Given the description of an element on the screen output the (x, y) to click on. 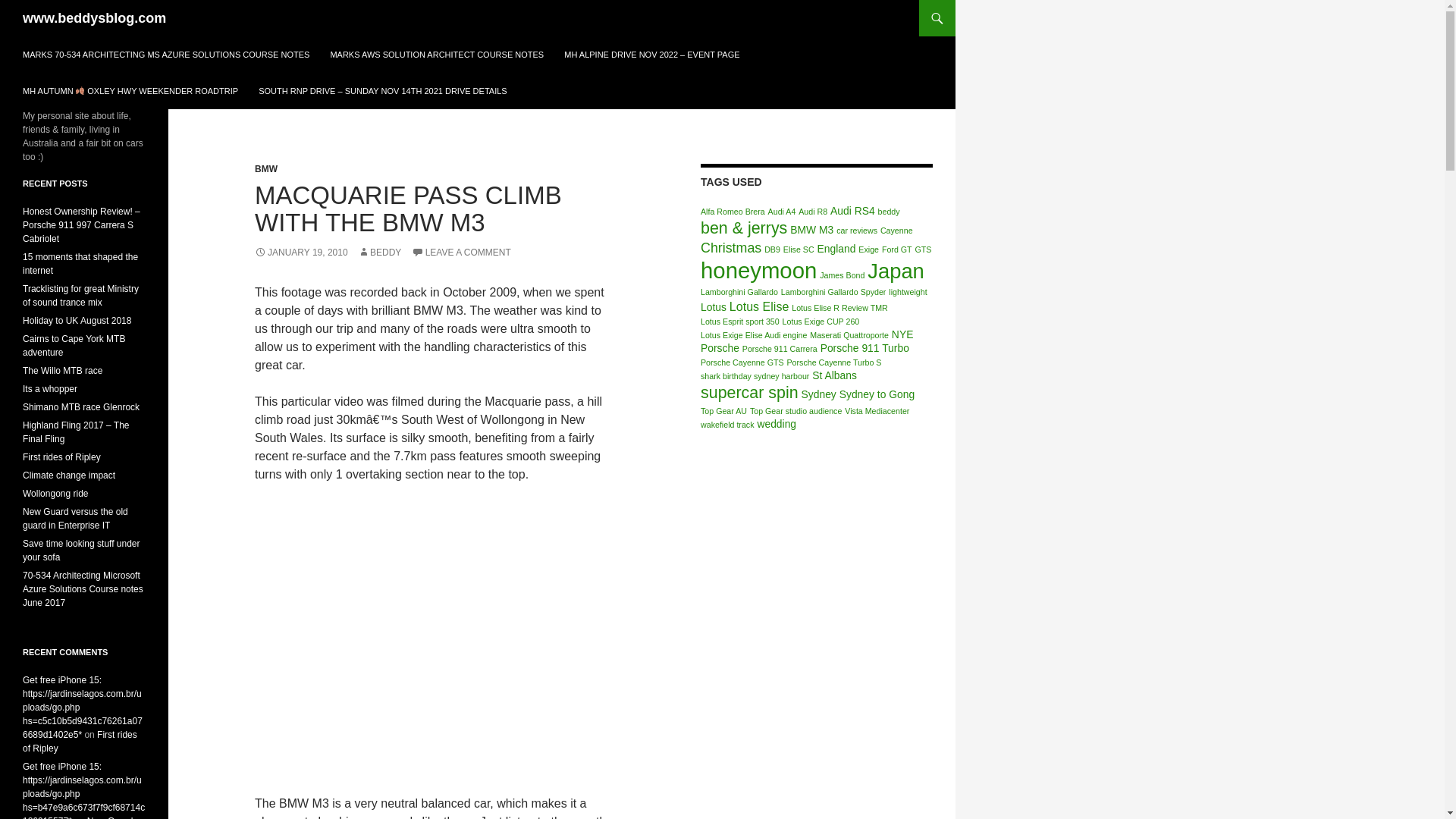
MARKS 70-534 ARCHITECTING MS AZURE SOLUTIONS COURSE NOTES (165, 54)
Exige (869, 248)
Cayenne (896, 230)
BMW (266, 168)
Audi A4 (782, 211)
Ford GT (897, 248)
MARKS AWS SOLUTION ARCHITECT COURSE NOTES (436, 54)
www.beddysblog.com (94, 18)
Japan (895, 270)
Lamborghini Gallardo (738, 291)
BMW M3 (811, 229)
car reviews (856, 230)
DB9 (772, 248)
Alfa Romeo Brera (732, 211)
beddy (888, 211)
